Given the description of an element on the screen output the (x, y) to click on. 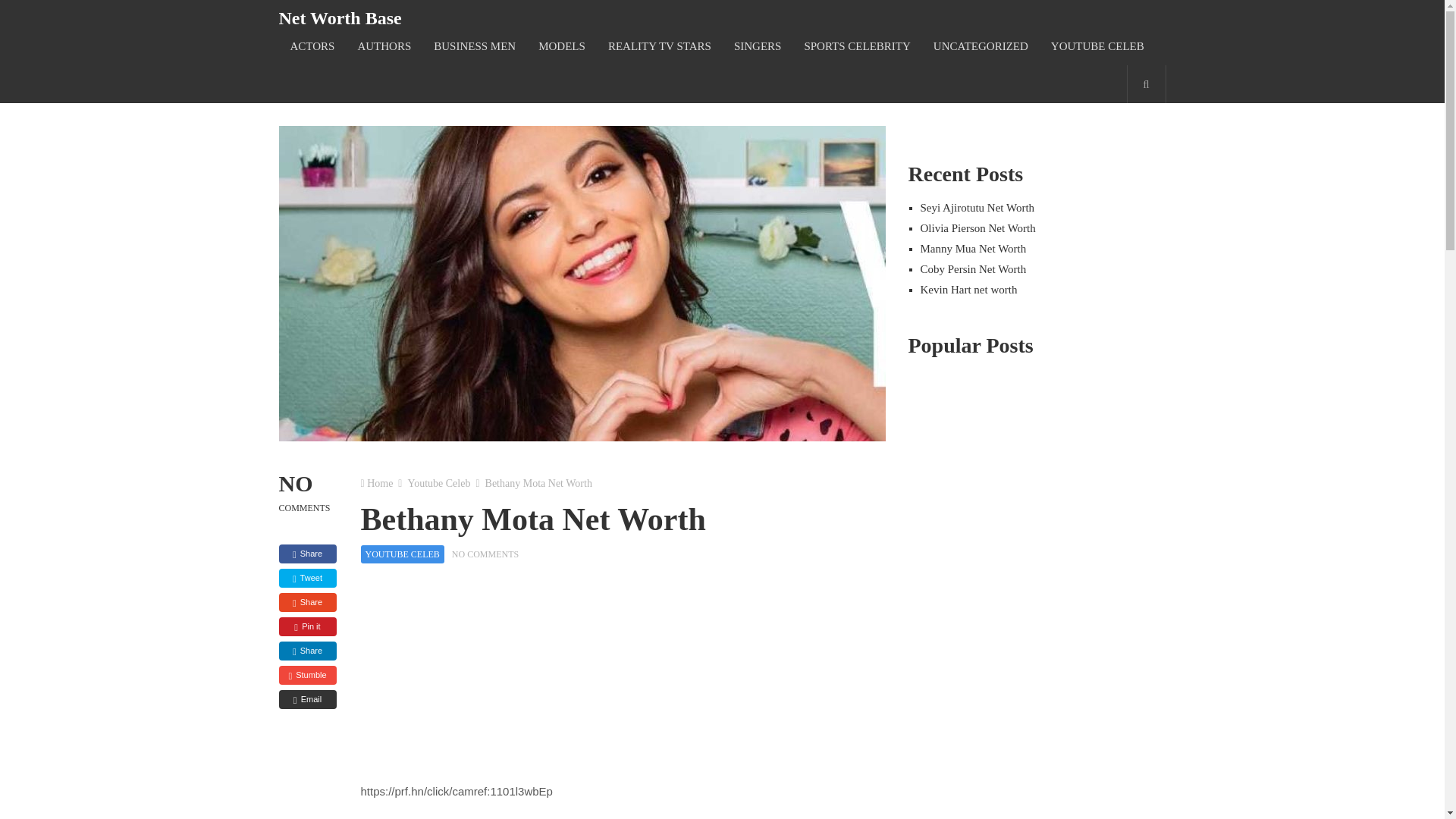
Seyi Ajirotutu Net Worth (977, 207)
YOUTUBE CELEB (402, 554)
Pin it (307, 626)
BUSINESS MEN (474, 46)
Olivia Pierson Net Worth (977, 227)
Email (307, 699)
SINGERS (757, 46)
AUTHORS (384, 46)
Home (379, 482)
Share (307, 553)
MODELS (561, 46)
YOUTUBE CELEB (1097, 46)
Tweet (307, 578)
Manny Mua Net Worth (973, 248)
Net Worth Base (340, 18)
